Given the description of an element on the screen output the (x, y) to click on. 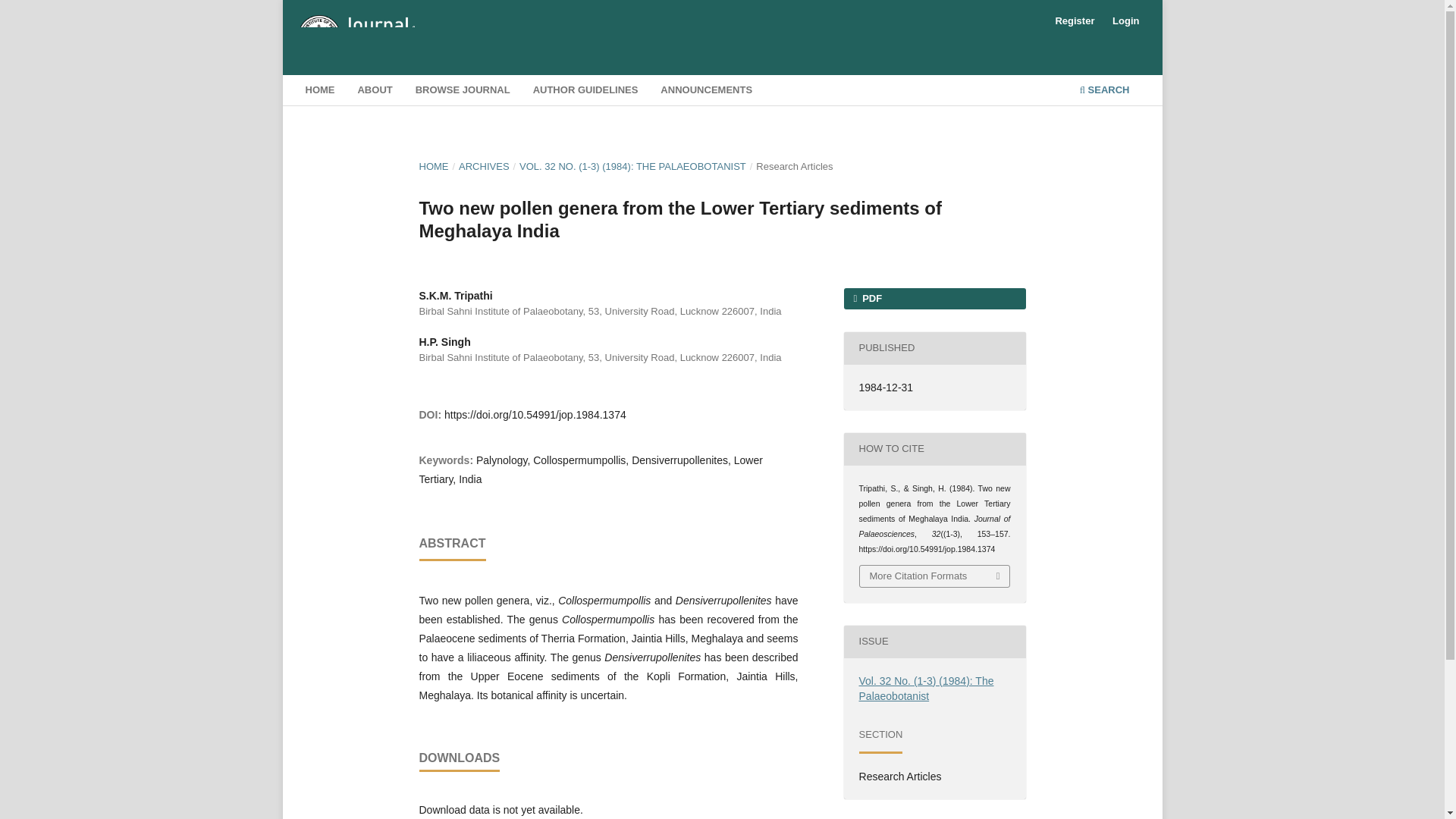
HOME (319, 91)
ABOUT (374, 91)
BROWSE JOURNAL (462, 91)
ARCHIVES (483, 166)
Register (1074, 20)
Login (1126, 20)
More Citation Formats (935, 576)
AUTHOR GUIDELINES (585, 91)
PDF (934, 298)
SEARCH (1104, 91)
ANNOUNCEMENTS (706, 91)
HOME (433, 166)
